Given the description of an element on the screen output the (x, y) to click on. 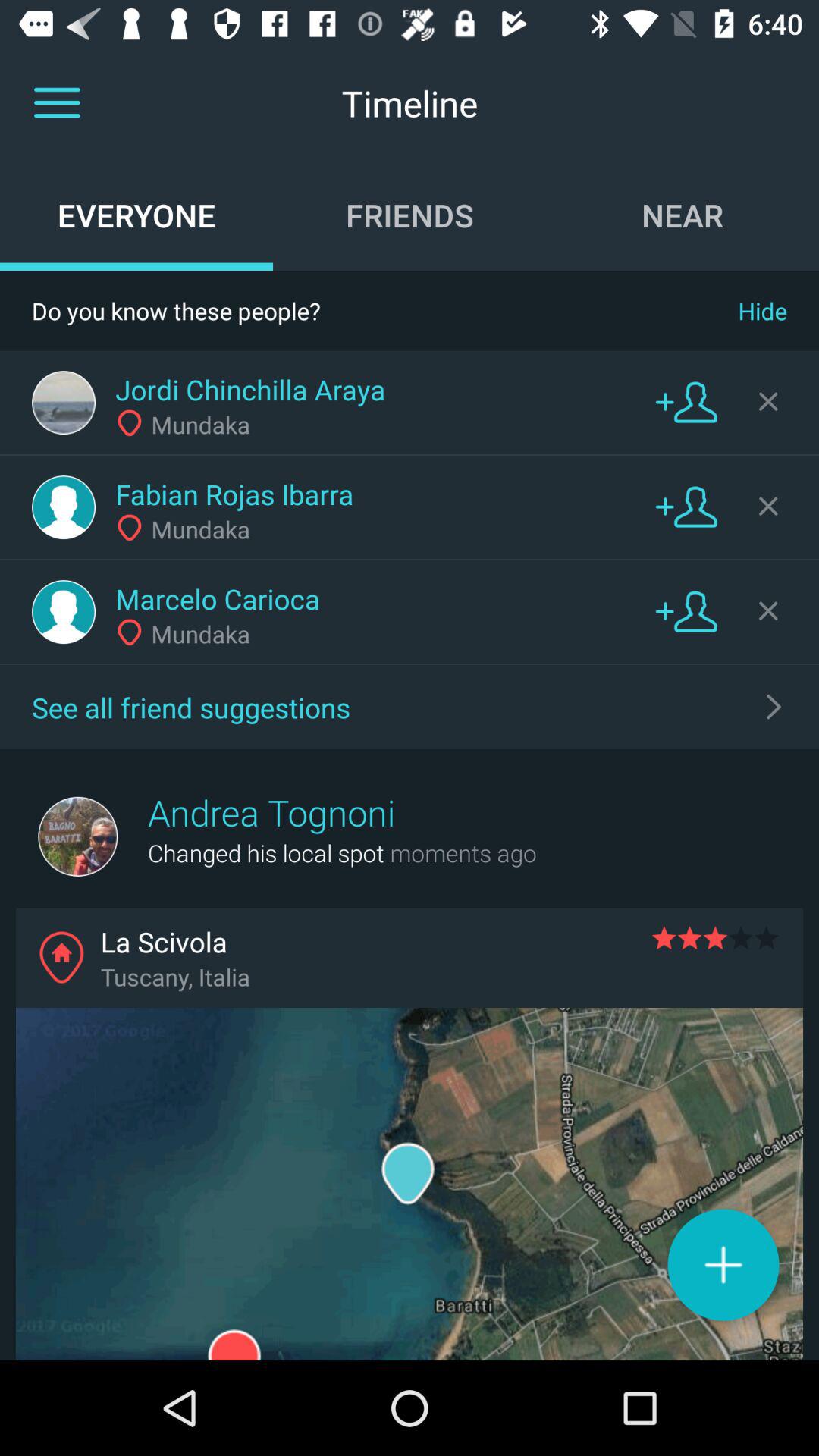
open menu (57, 103)
